Given the description of an element on the screen output the (x, y) to click on. 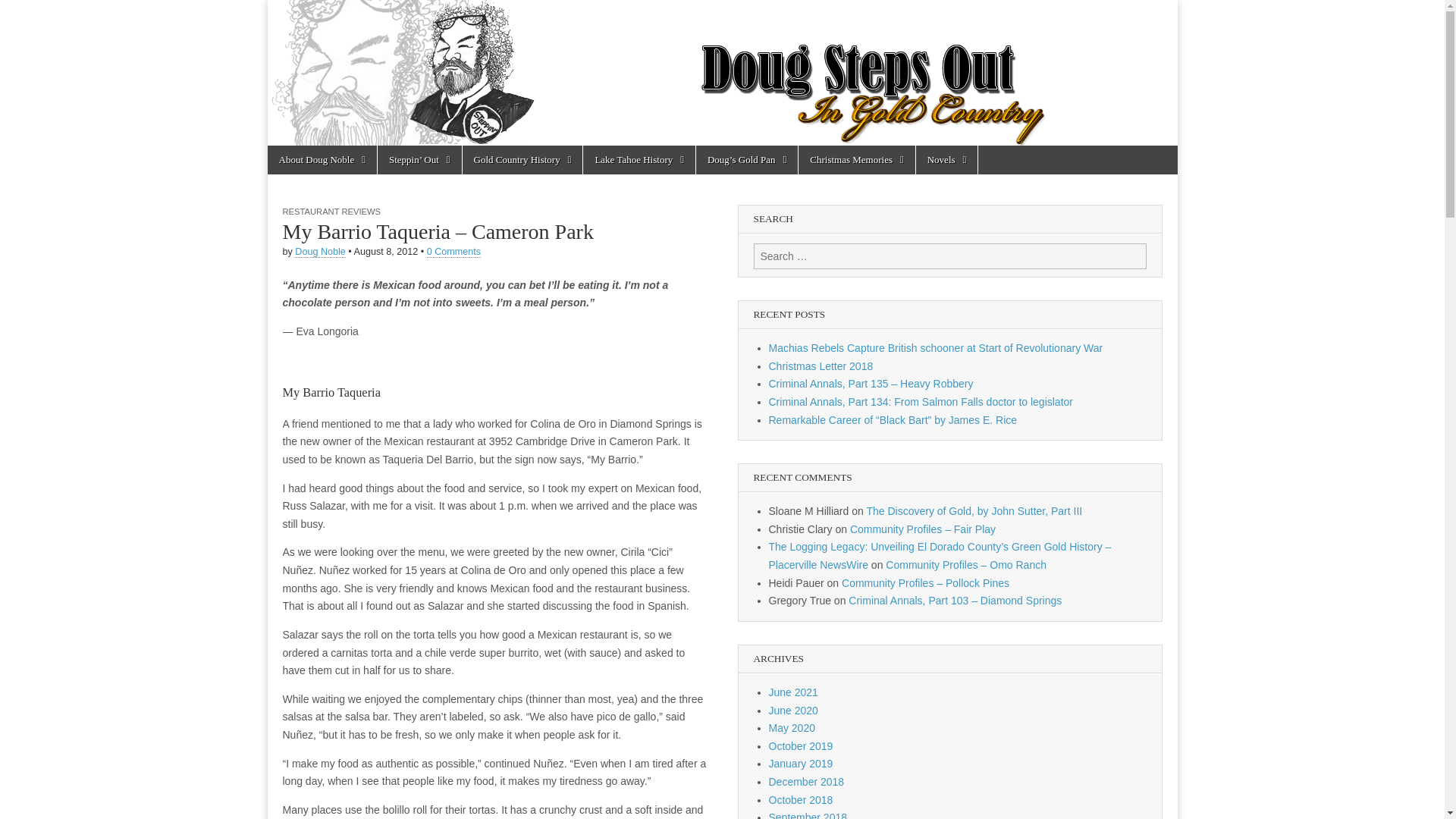
Lake Tahoe History (639, 159)
Doug Noble (320, 251)
Posts by Doug Noble (320, 251)
Gold Country History (523, 159)
Christmas Memories (855, 159)
Doug Steps Out (721, 72)
About Doug Noble (320, 159)
Novels (946, 159)
